Given the description of an element on the screen output the (x, y) to click on. 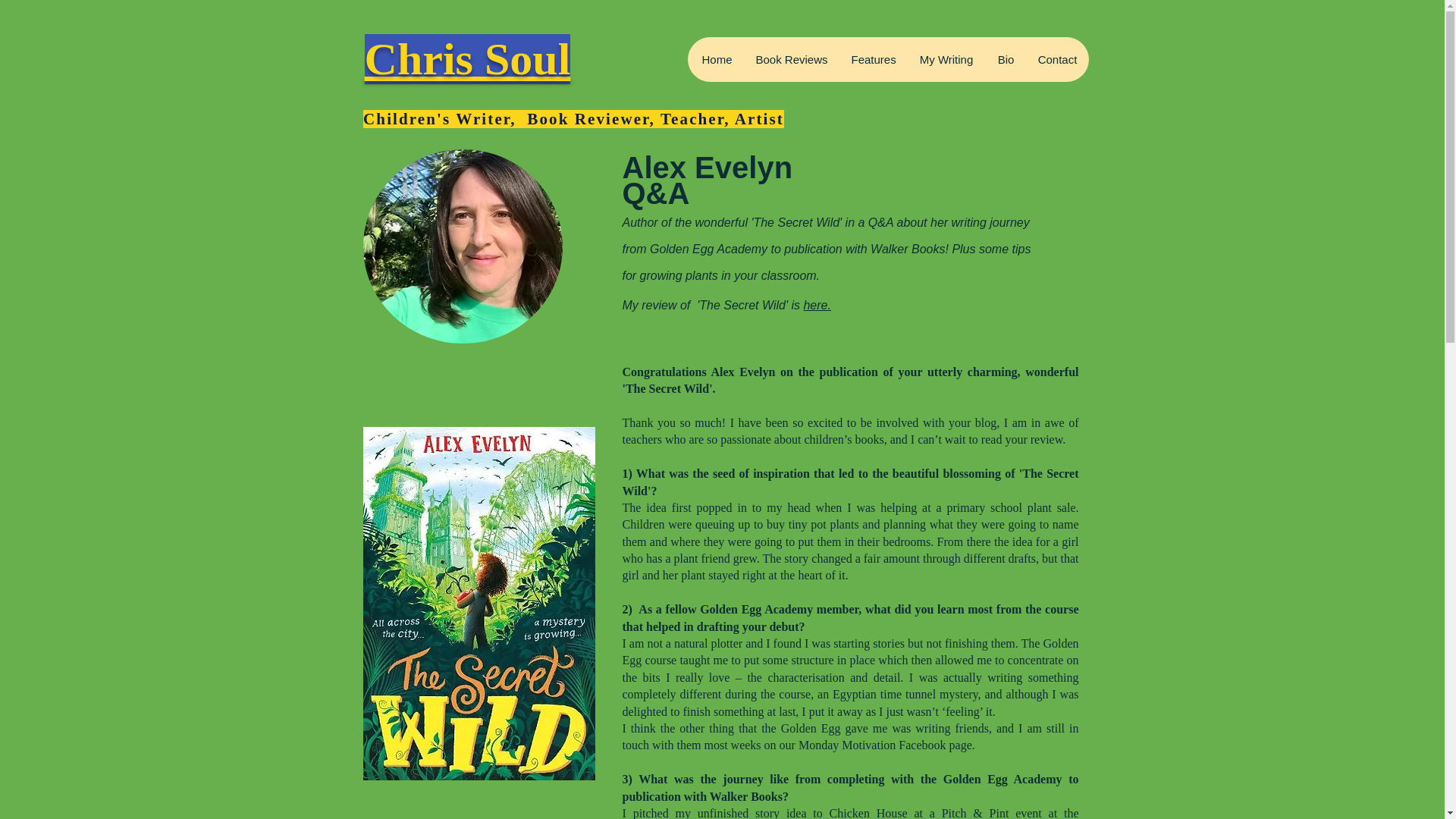
Contact (1056, 58)
Bio (1005, 58)
Home (717, 58)
here. (816, 305)
My Writing (946, 58)
Features (871, 58)
Book Reviews (790, 58)
Chris Soul (467, 59)
